Given the description of an element on the screen output the (x, y) to click on. 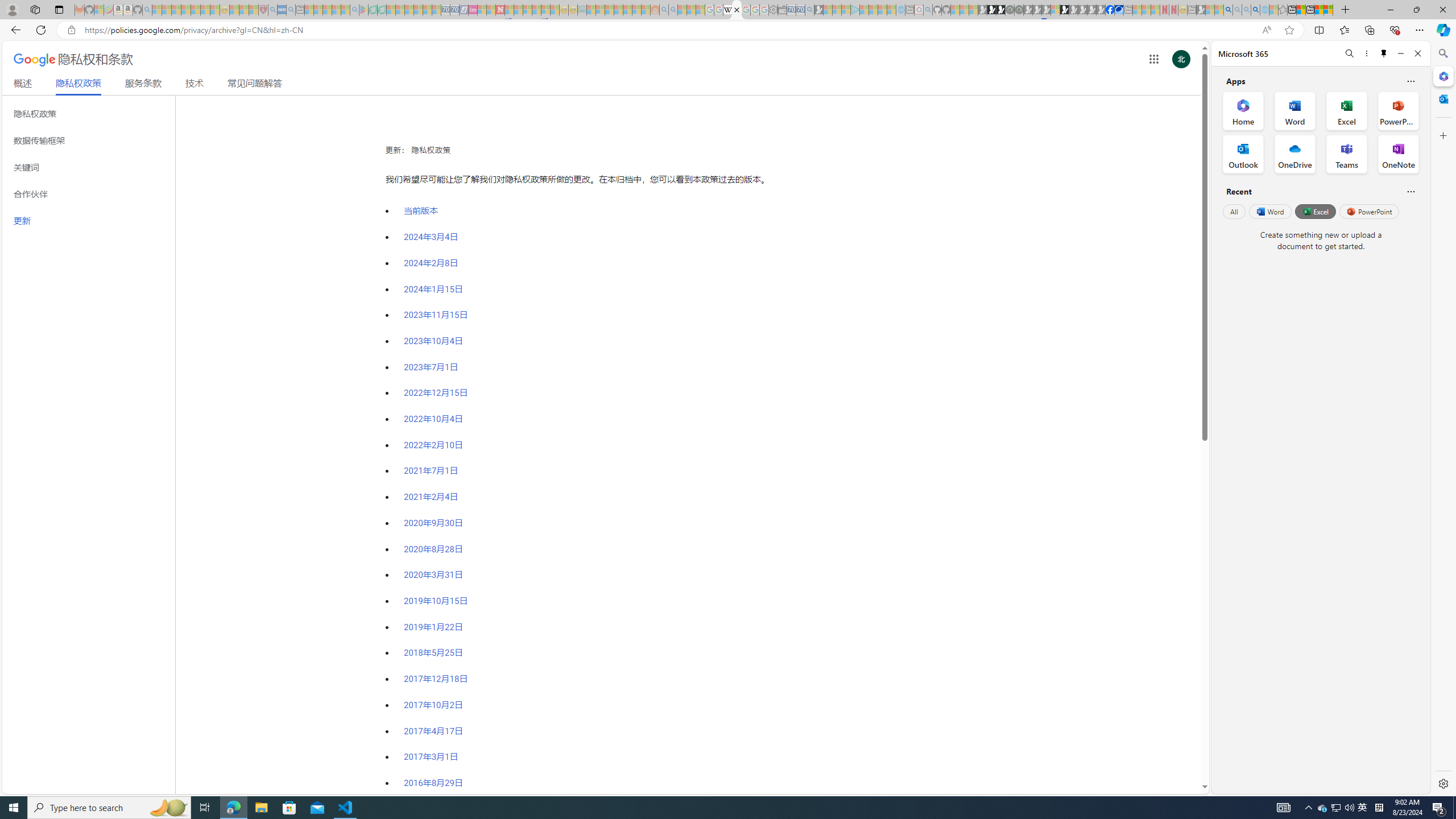
Home Office App (1243, 110)
Sign in to your account - Sleeping (1054, 9)
